Given the description of an element on the screen output the (x, y) to click on. 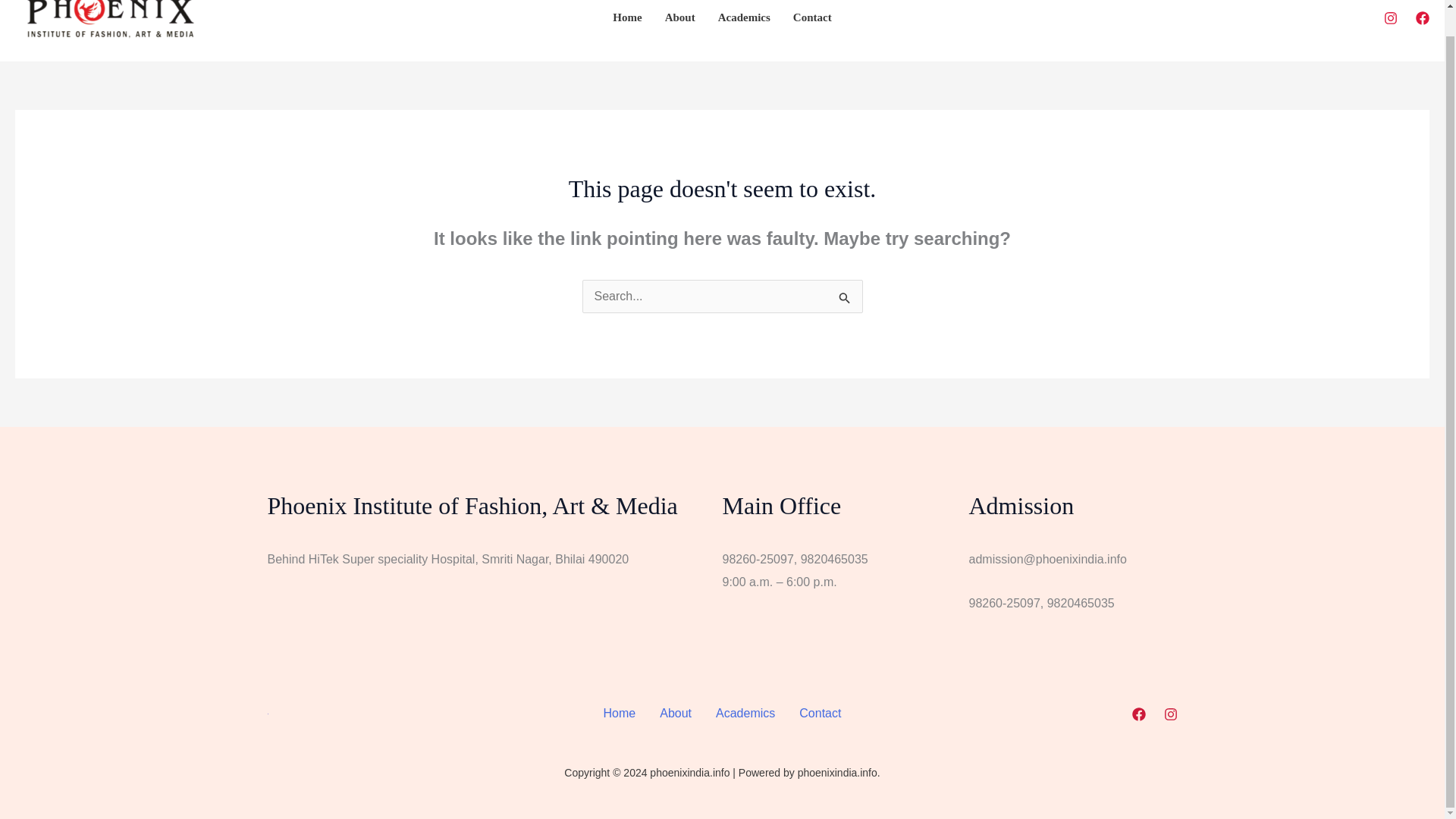
Academics (745, 712)
Academics (743, 27)
Home (626, 27)
About (679, 27)
Contact (820, 712)
Contact (812, 27)
Home (619, 712)
About (675, 712)
